Given the description of an element on the screen output the (x, y) to click on. 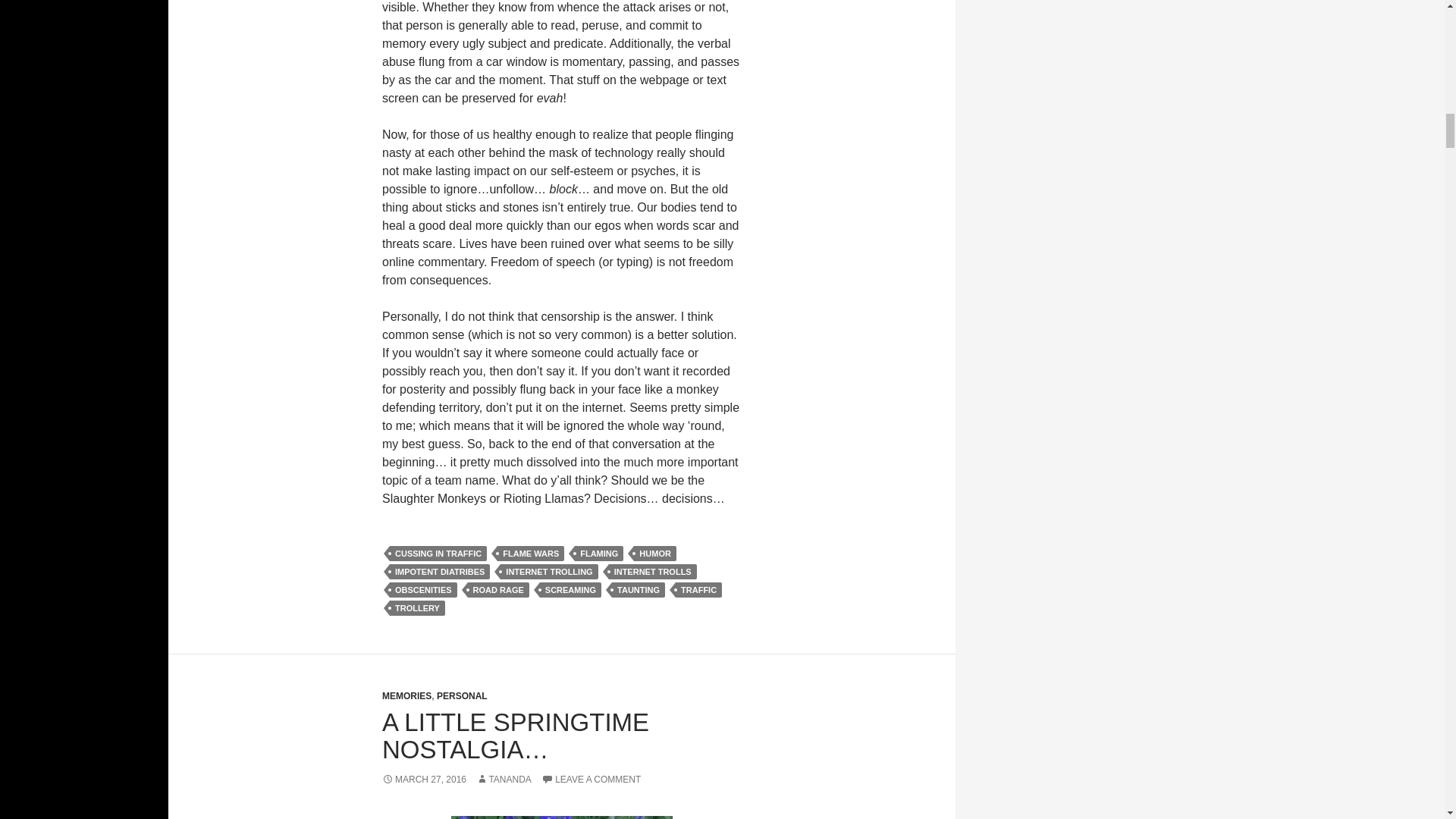
TRAFFIC (698, 589)
TROLLERY (417, 607)
INTERNET TROLLING (548, 571)
SCREAMING (570, 589)
TANANDA (503, 778)
MARCH 27, 2016 (423, 778)
ROAD RAGE (498, 589)
IMPOTENT DIATRIBES (439, 571)
FLAMING (599, 553)
OBSCENITIES (423, 589)
HUMOR (655, 553)
INTERNET TROLLS (652, 571)
PERSONAL (461, 696)
CUSSING IN TRAFFIC (438, 553)
TAUNTING (638, 589)
